Given the description of an element on the screen output the (x, y) to click on. 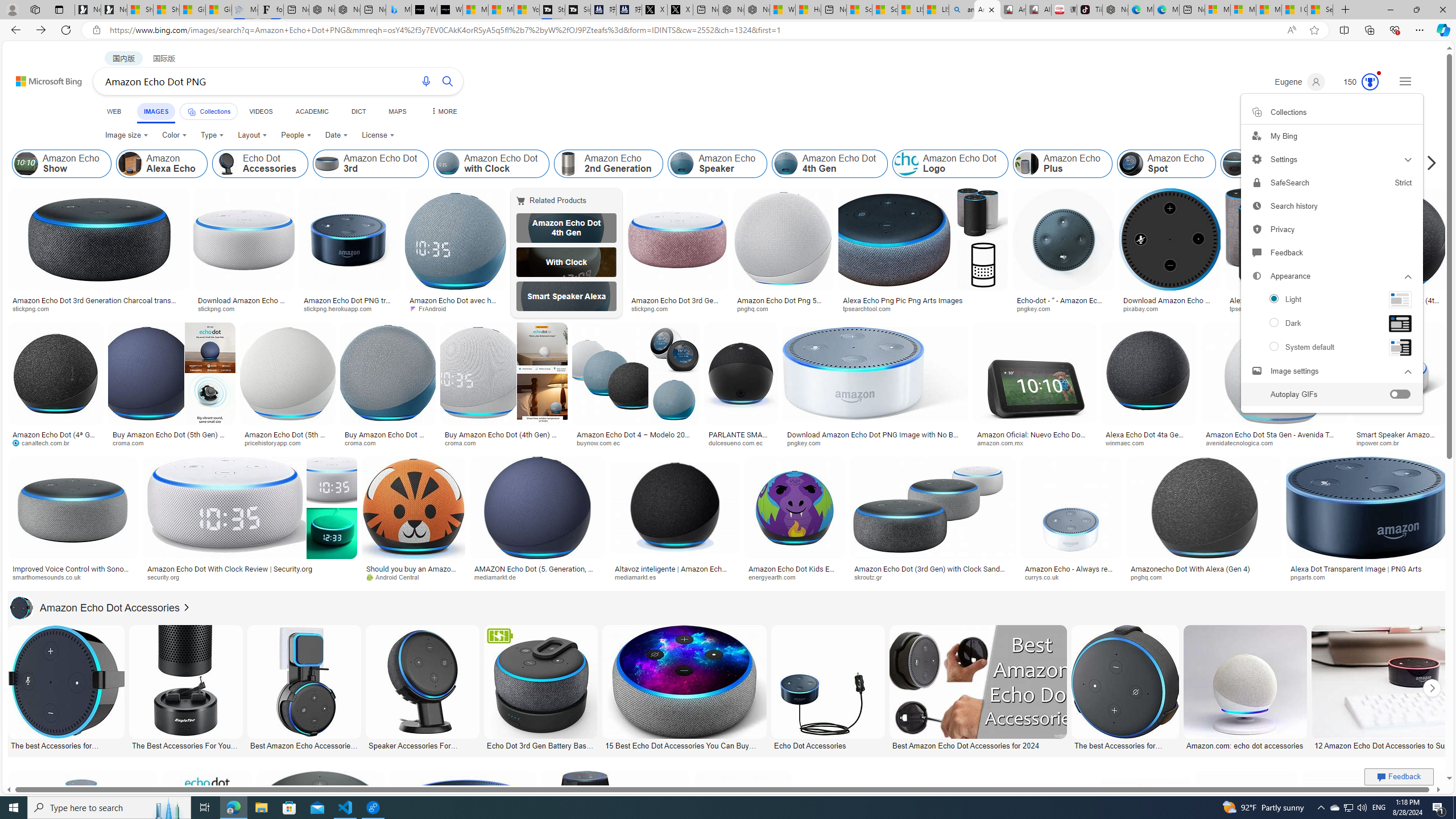
Privacy (1331, 228)
inpower.com.br (1381, 442)
MAPS (397, 111)
Amazonecho Dot With Alexa (Gen 4) (1190, 568)
Image settings Image settings (1331, 370)
Amazon Echo - Always ready, connected and fast. Just ask. (1070, 572)
croma.com (503, 442)
DICT (357, 111)
Amazon Echo Dot 3rd (326, 163)
pngarts.com (1311, 576)
Amazon Echo Dot With Clock Review | Security.org (249, 568)
